Given the description of an element on the screen output the (x, y) to click on. 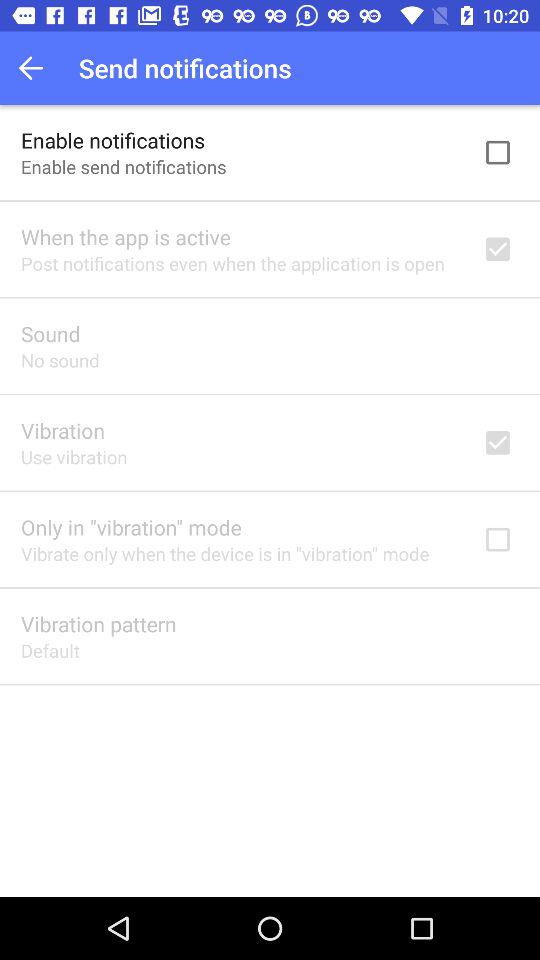
jump until use vibration item (74, 456)
